Given the description of an element on the screen output the (x, y) to click on. 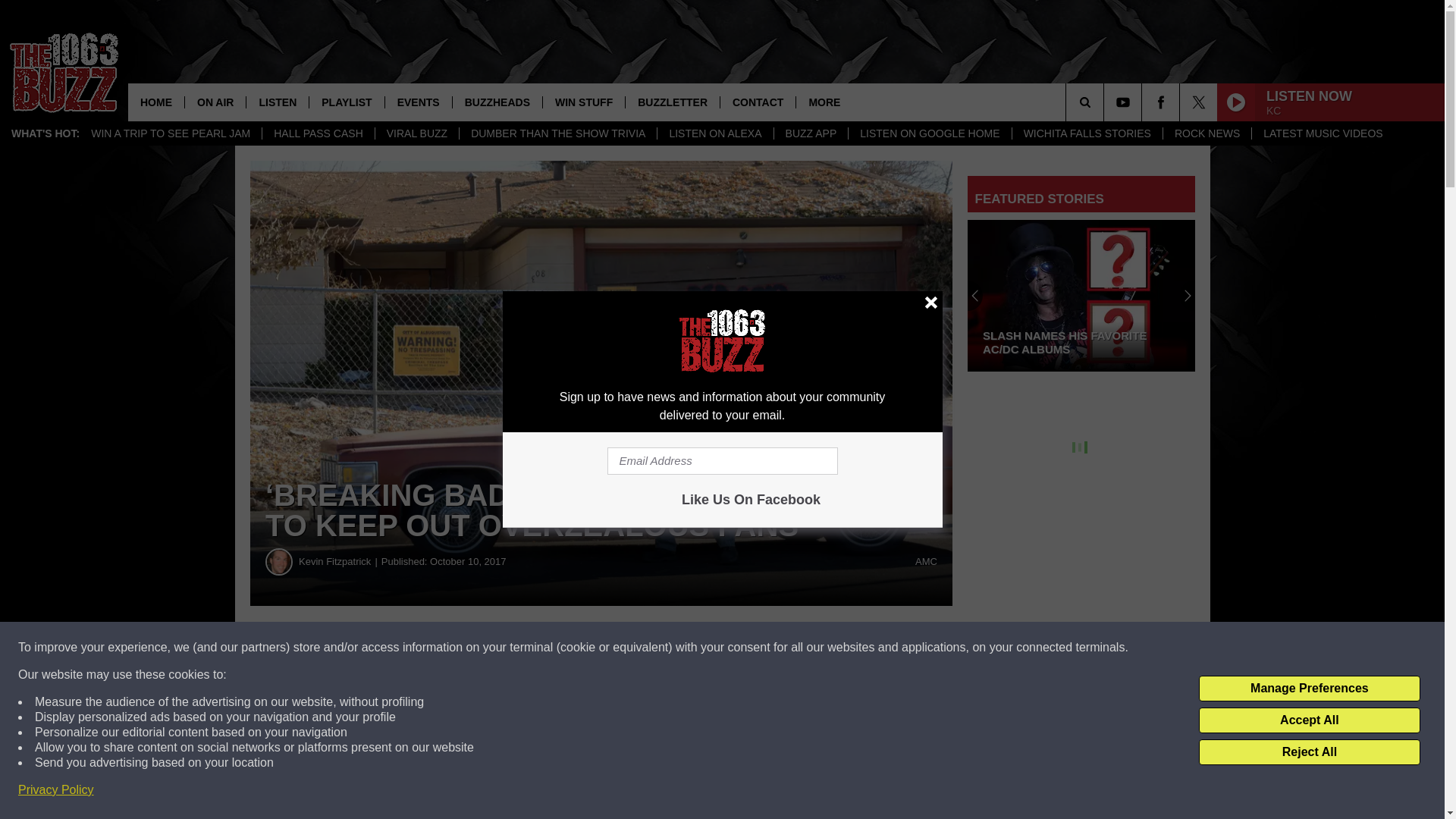
SEARCH (1106, 102)
Share on Twitter (741, 647)
BUZZHEADS (496, 102)
PLAYLIST (346, 102)
BUZZ APP (810, 133)
ON AIR (215, 102)
VIRAL BUZZ (416, 133)
Email Address (722, 461)
HOME (156, 102)
WICHITA FALLS STORIES (1086, 133)
LISTEN ON GOOGLE HOME (928, 133)
Share on Facebook (460, 647)
DUMBER THAN THE SHOW TRIVIA (557, 133)
LISTEN ON ALEXA (714, 133)
Manage Preferences (1309, 688)
